Given the description of an element on the screen output the (x, y) to click on. 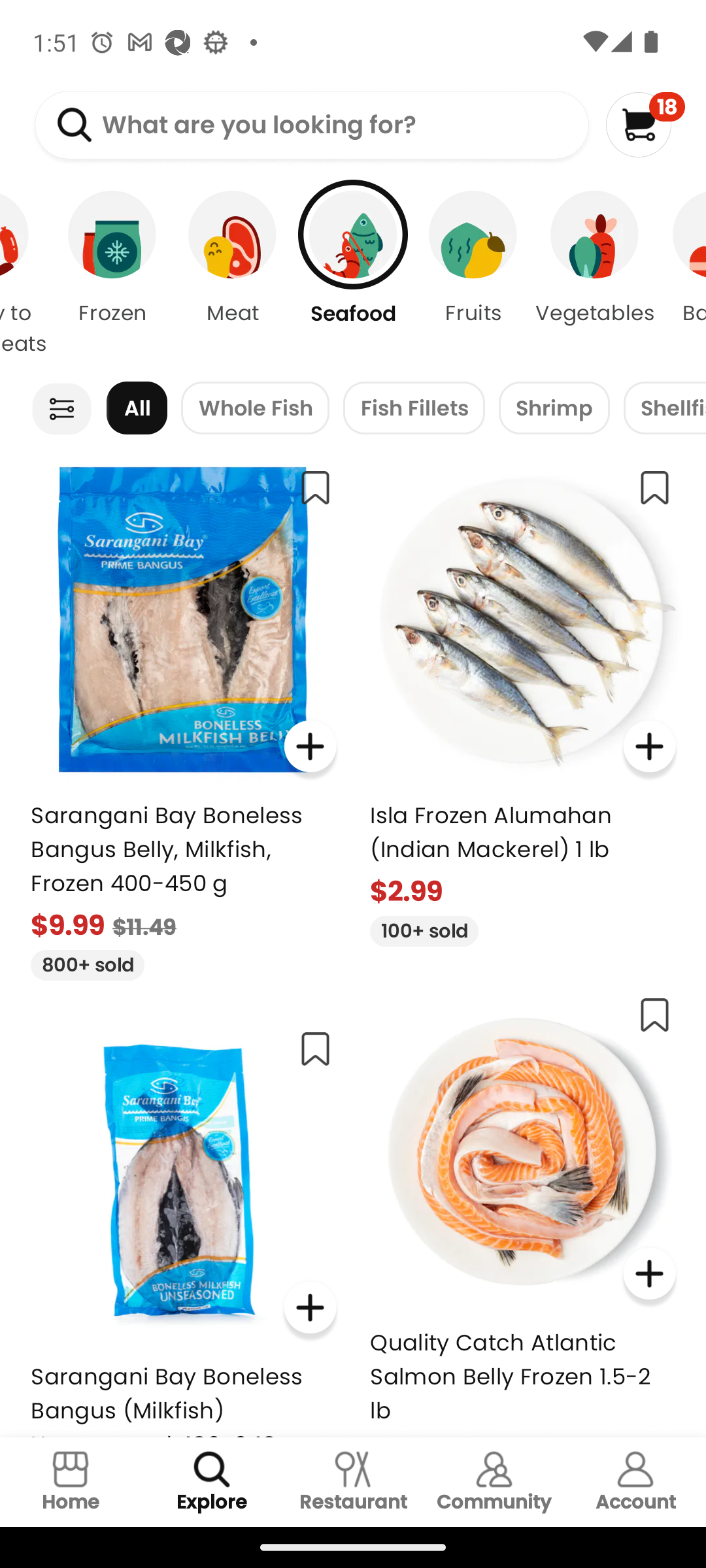
What are you looking for? (311, 124)
18 (644, 124)
Frozen (112, 274)
Meat (232, 274)
Seafood (352, 274)
Fruits (473, 274)
Vegetables (595, 274)
All (136, 407)
Whole Fish (254, 407)
Fish Fillets (414, 407)
Shrimp (553, 407)
Shellfish (664, 407)
Home (70, 1482)
Explore (211, 1482)
Restaurant (352, 1482)
Community (493, 1482)
Account (635, 1482)
